Given the description of an element on the screen output the (x, y) to click on. 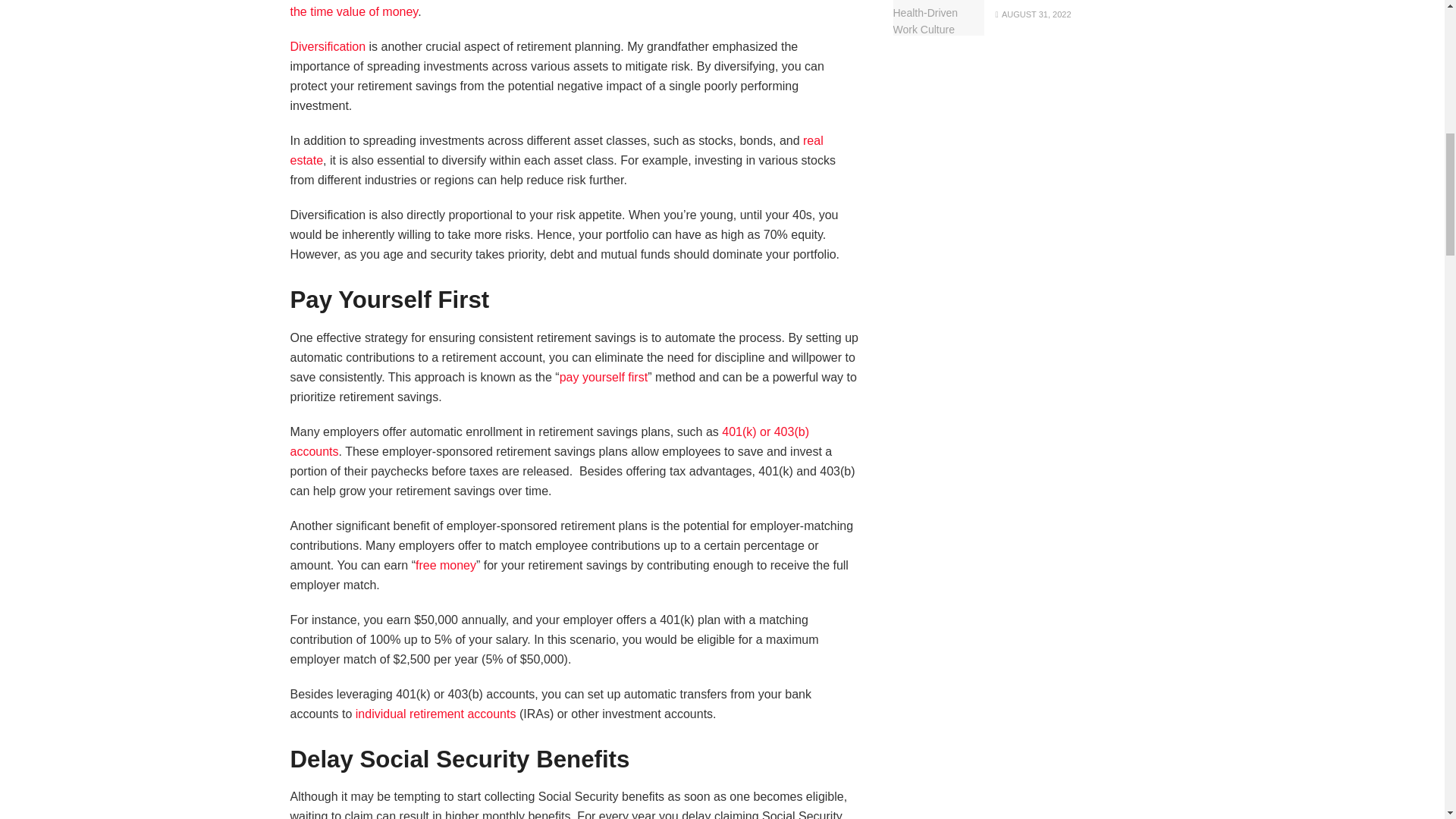
Diversification (327, 46)
the time value of money (353, 11)
real estate (555, 150)
Why Leaders Need to Create a Health-Driven Work Culture (938, 18)
